Given the description of an element on the screen output the (x, y) to click on. 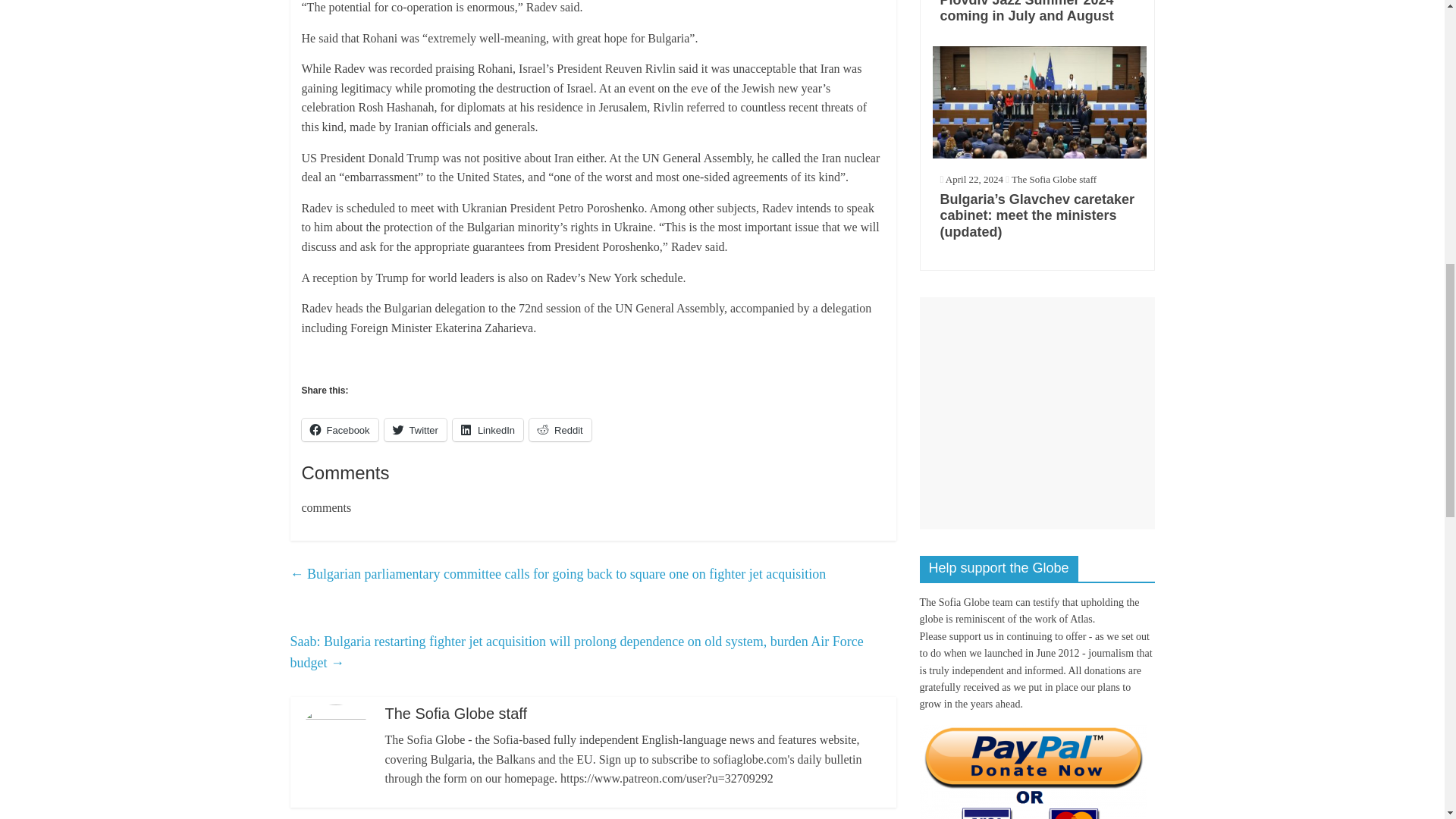
Twitter (415, 429)
Facebook (339, 429)
Click to share on Reddit (560, 429)
Click to share on Twitter (415, 429)
Click to share on LinkedIn (487, 429)
LinkedIn (487, 429)
Reddit (560, 429)
Click to share on Facebook (339, 429)
